Given the description of an element on the screen output the (x, y) to click on. 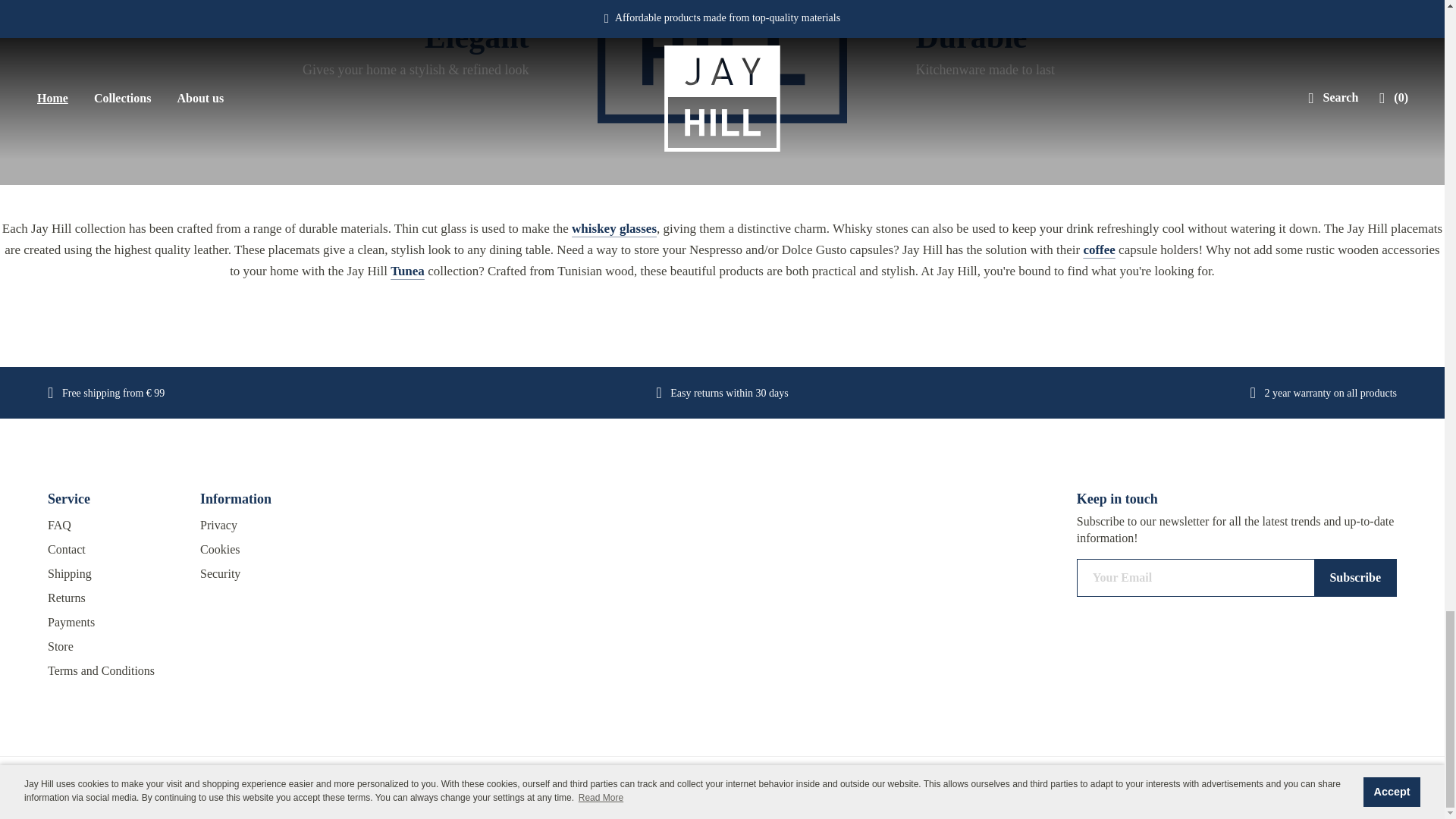
coffee (1099, 249)
Contact (112, 549)
FAQ (112, 525)
Tunea (407, 270)
Subscribe (1355, 577)
whiskey glasses (614, 228)
Terms and Conditions (112, 671)
Security (265, 573)
Cookies (265, 549)
Returns (112, 598)
